Given the description of an element on the screen output the (x, y) to click on. 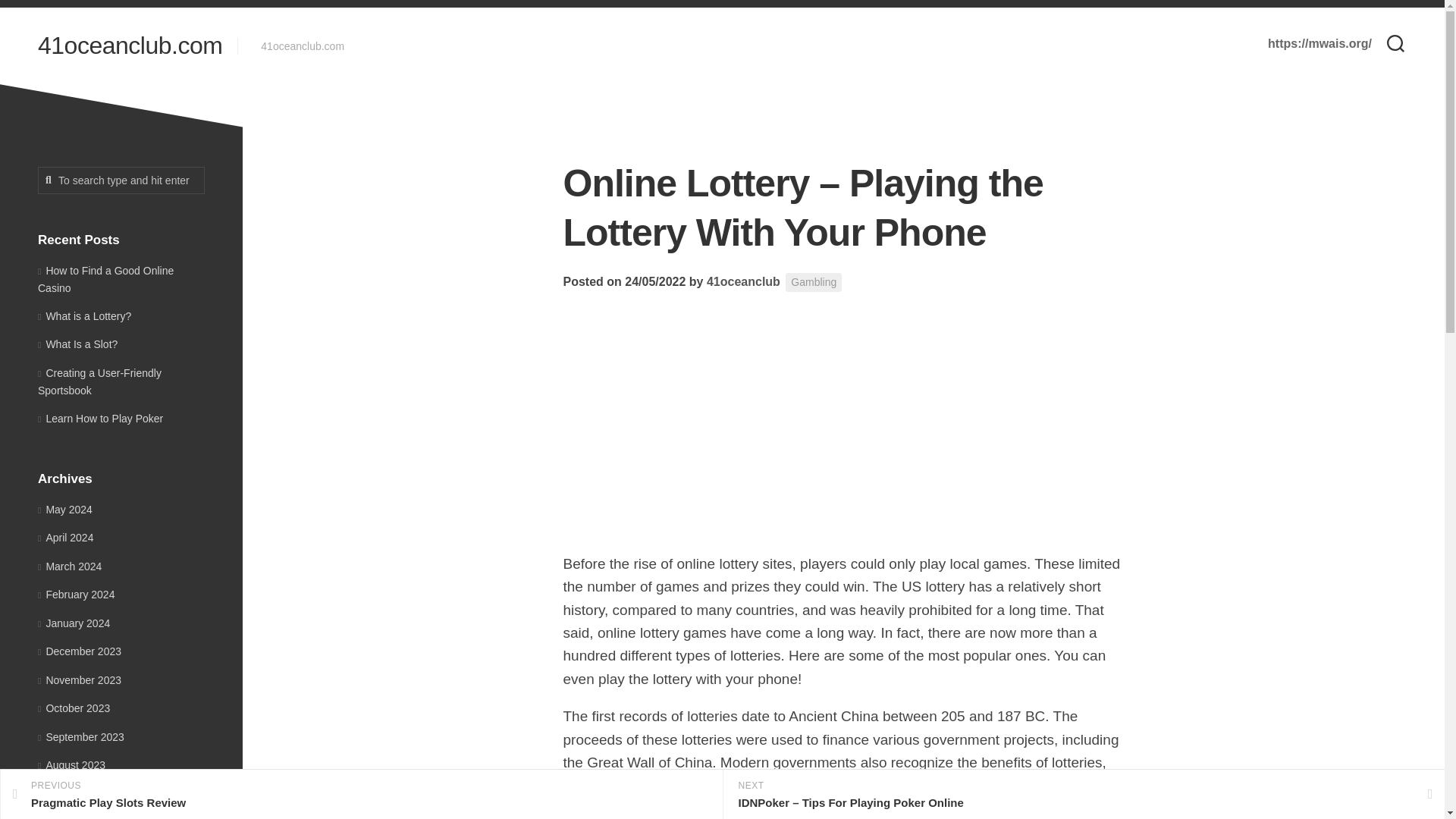
Gambling (813, 281)
February 2024 (76, 594)
July 2023 (63, 793)
How to Find a Good Online Casino (105, 278)
Creating a User-Friendly Sportsbook (361, 794)
June 2023 (99, 381)
March 2024 (66, 817)
What Is a Slot? (69, 565)
41oceanclub (77, 344)
January 2024 (743, 281)
To search type and hit enter (73, 623)
November 2023 (121, 180)
What is a Lottery? (78, 679)
To search type and hit enter (84, 315)
